Given the description of an element on the screen output the (x, y) to click on. 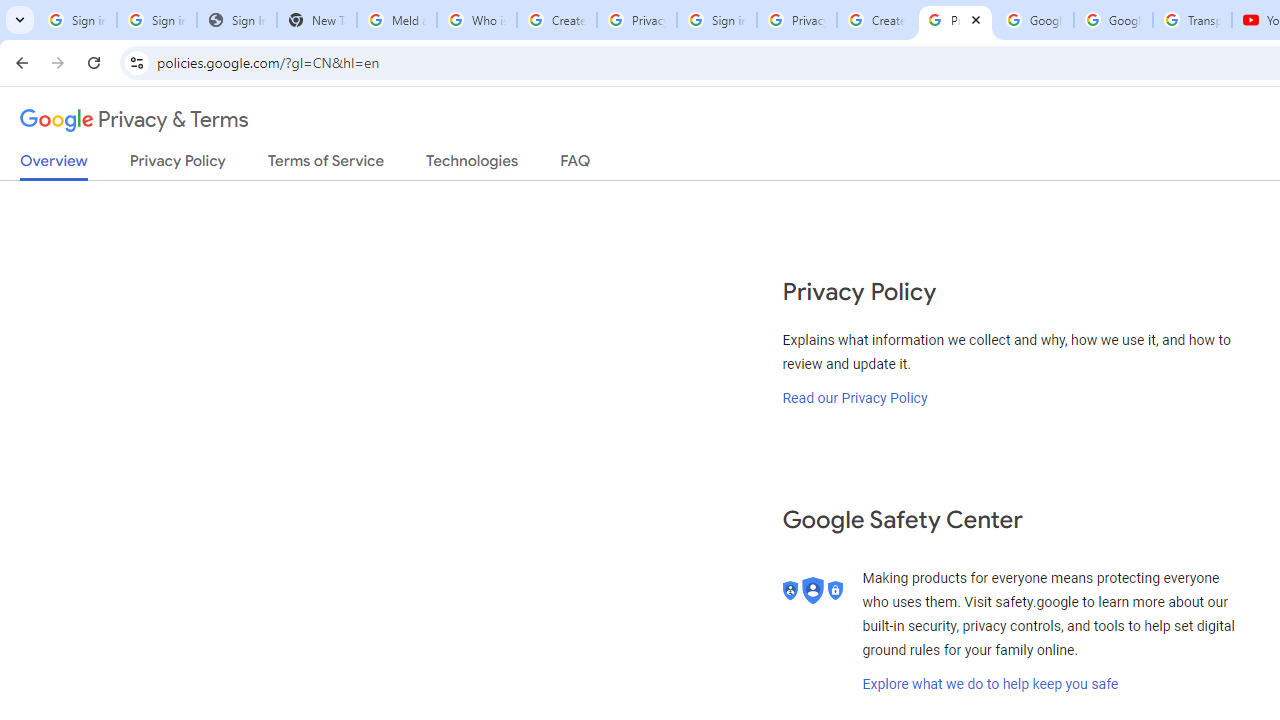
Sign in - Google Accounts (716, 20)
Explore what we do to help keep you safe (989, 683)
Sign in - Google Accounts (156, 20)
New Tab (316, 20)
Who is my administrator? - Google Account Help (476, 20)
Google Account (1113, 20)
Read our Privacy Policy (855, 397)
